Given the description of an element on the screen output the (x, y) to click on. 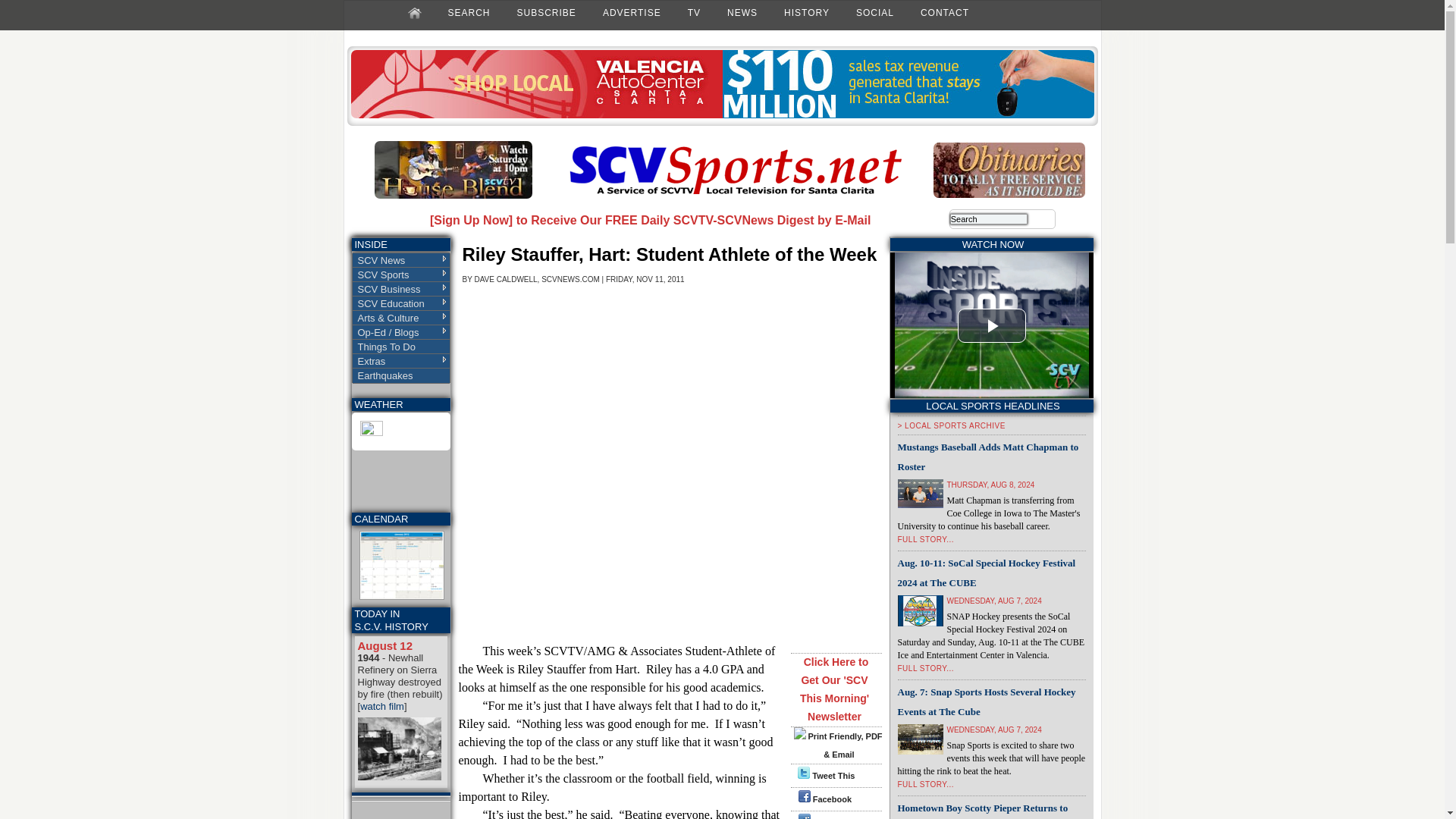
Obituaries (1008, 194)
Auto Mall (721, 114)
Posts by By Dave Caldwell, SCVNews.com (531, 279)
SUBSCRIBE (546, 12)
House Blend (453, 195)
NEWS (742, 12)
ADVERTISE (631, 12)
TV (693, 12)
Search (988, 218)
